Given the description of an element on the screen output the (x, y) to click on. 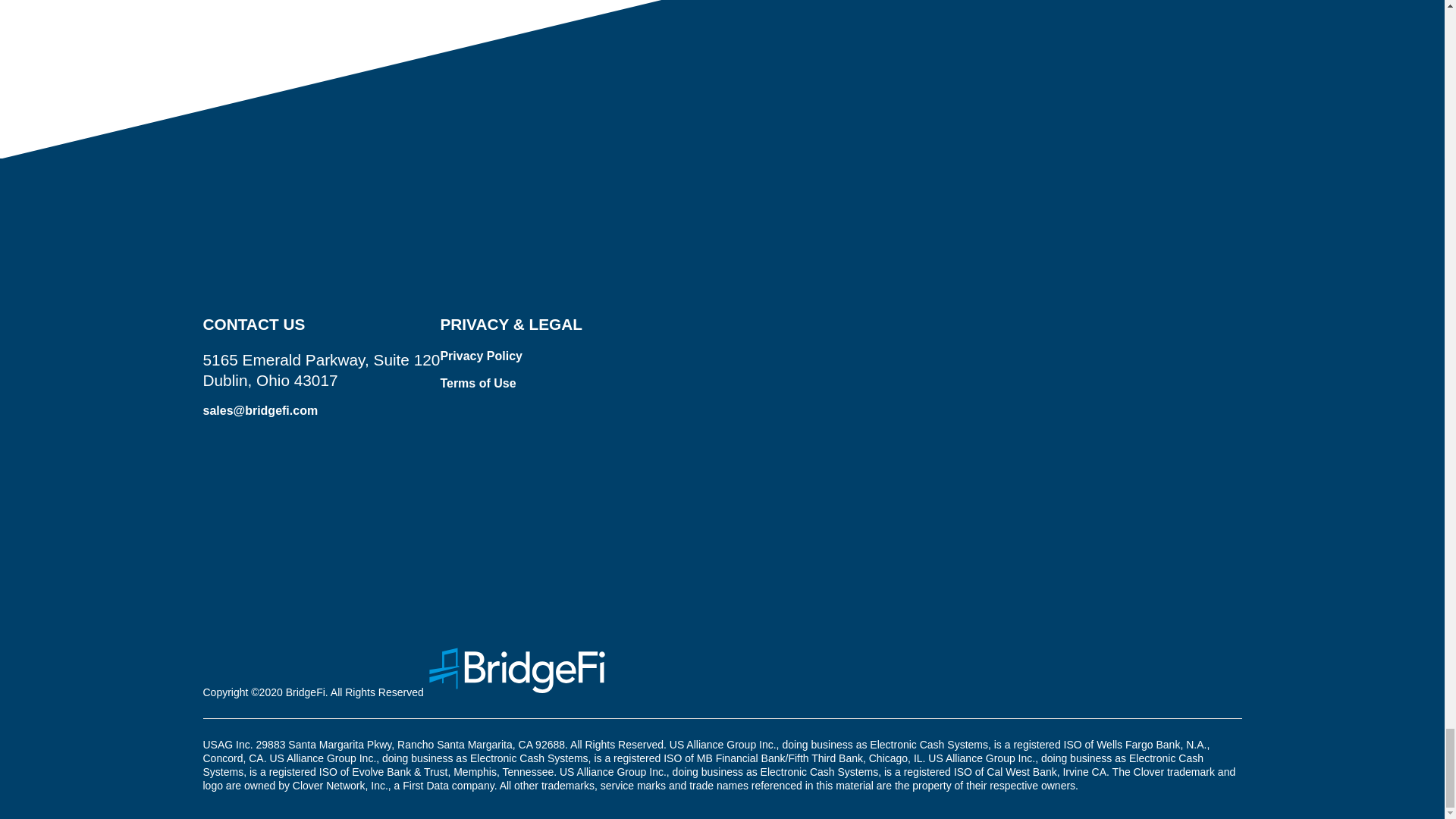
Privacy Policy (480, 355)
Terms of Use (477, 382)
